Given the description of an element on the screen output the (x, y) to click on. 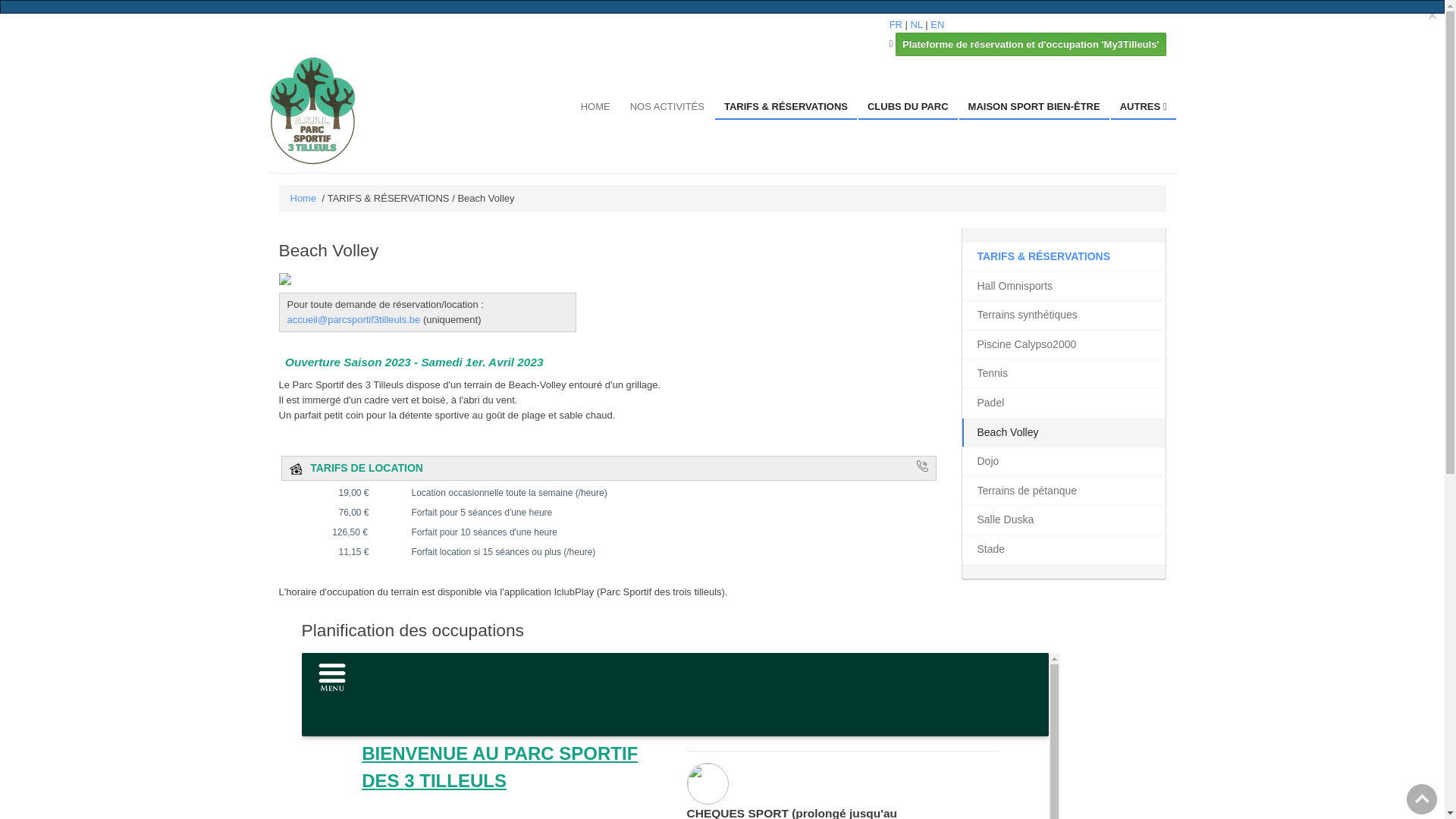
Haut de la page Element type: text (1421, 799)
HOME Element type: text (595, 107)
EN Element type: text (937, 24)
accueil@parcsportif3tilleuls.be Element type: text (353, 319)
Padel Element type: text (1062, 403)
Salle Duska Element type: text (1062, 519)
NL Element type: text (916, 24)
FR Element type: text (895, 24)
Stade Element type: text (1062, 549)
CLUBS DU PARC Element type: text (907, 107)
Piscine Calypso2000 Element type: text (1062, 344)
Hall Omnisports Element type: text (1062, 286)
Tennis Element type: text (1062, 373)
Beach Volley Element type: text (1062, 432)
Dojo Element type: text (1062, 461)
Home Element type: text (302, 197)
